Given the description of an element on the screen output the (x, y) to click on. 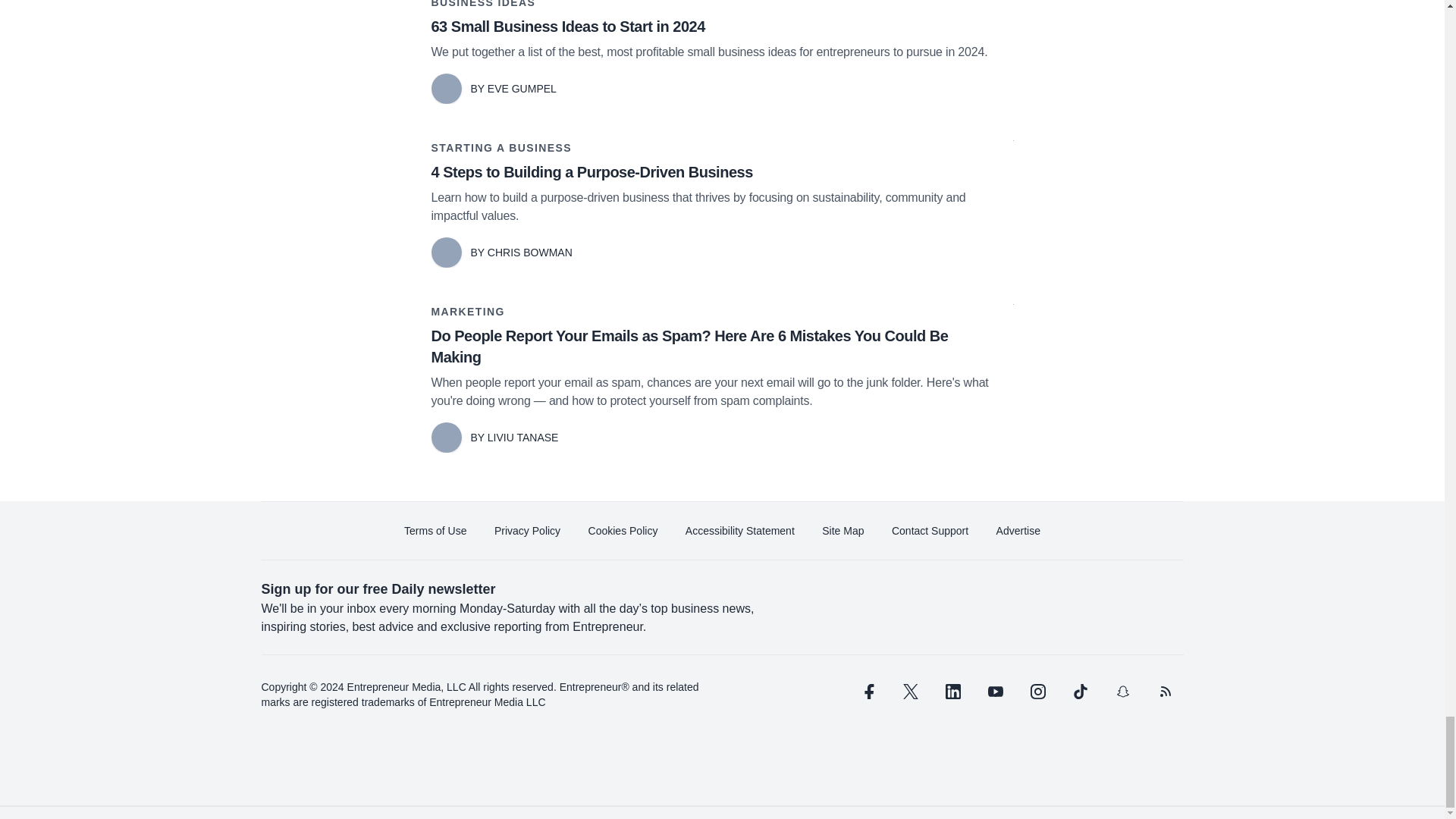
tiktok (1079, 691)
linkedin (952, 691)
youtube (994, 691)
instagram (1037, 691)
facebook (866, 691)
twitter (909, 691)
snapchat (1121, 691)
